Given the description of an element on the screen output the (x, y) to click on. 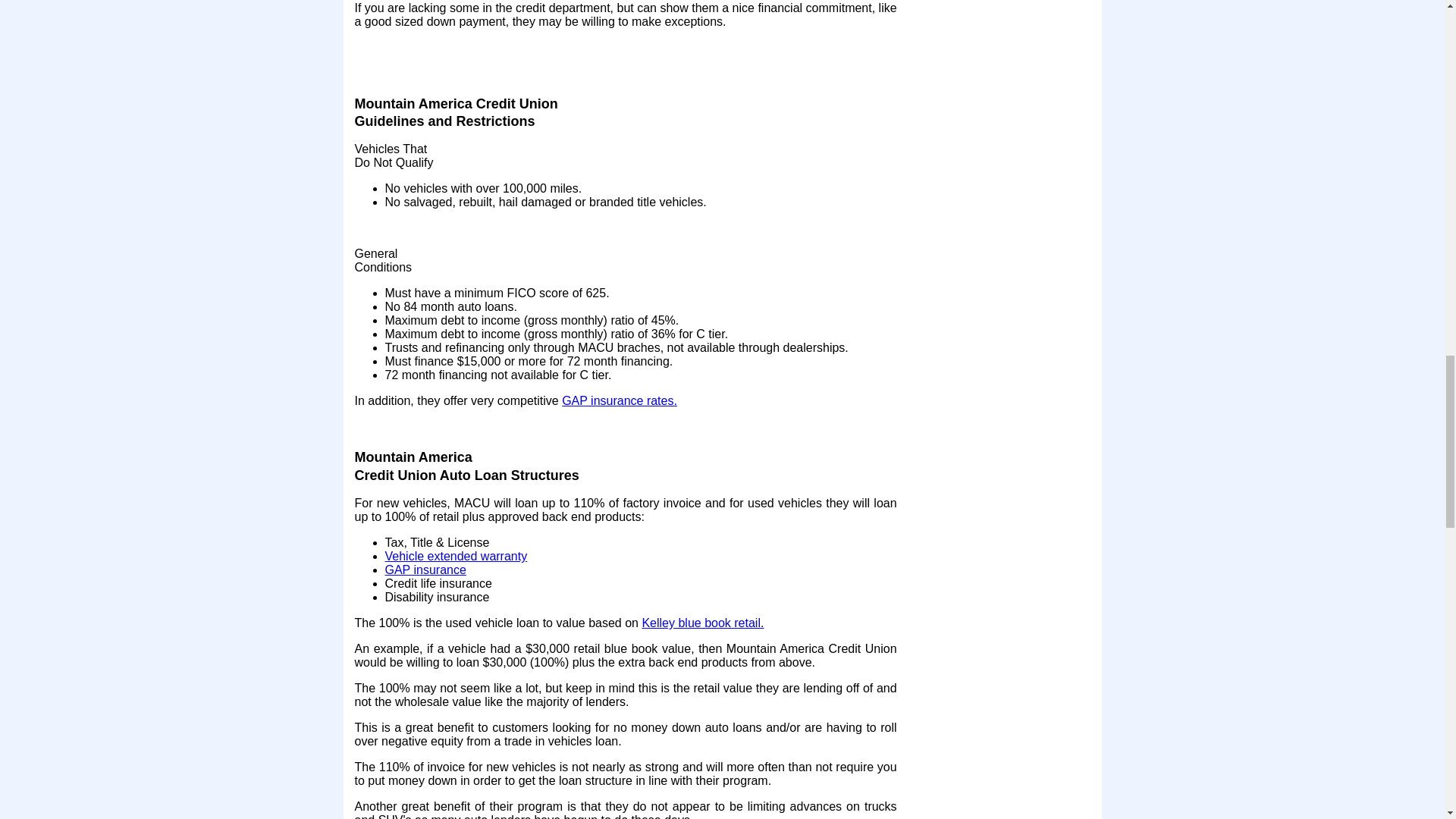
Kelley blue book retail. (702, 622)
GAP insurance rates. (619, 400)
Vehicle extended warranty (456, 555)
GAP insurance (425, 569)
